Given the description of an element on the screen output the (x, y) to click on. 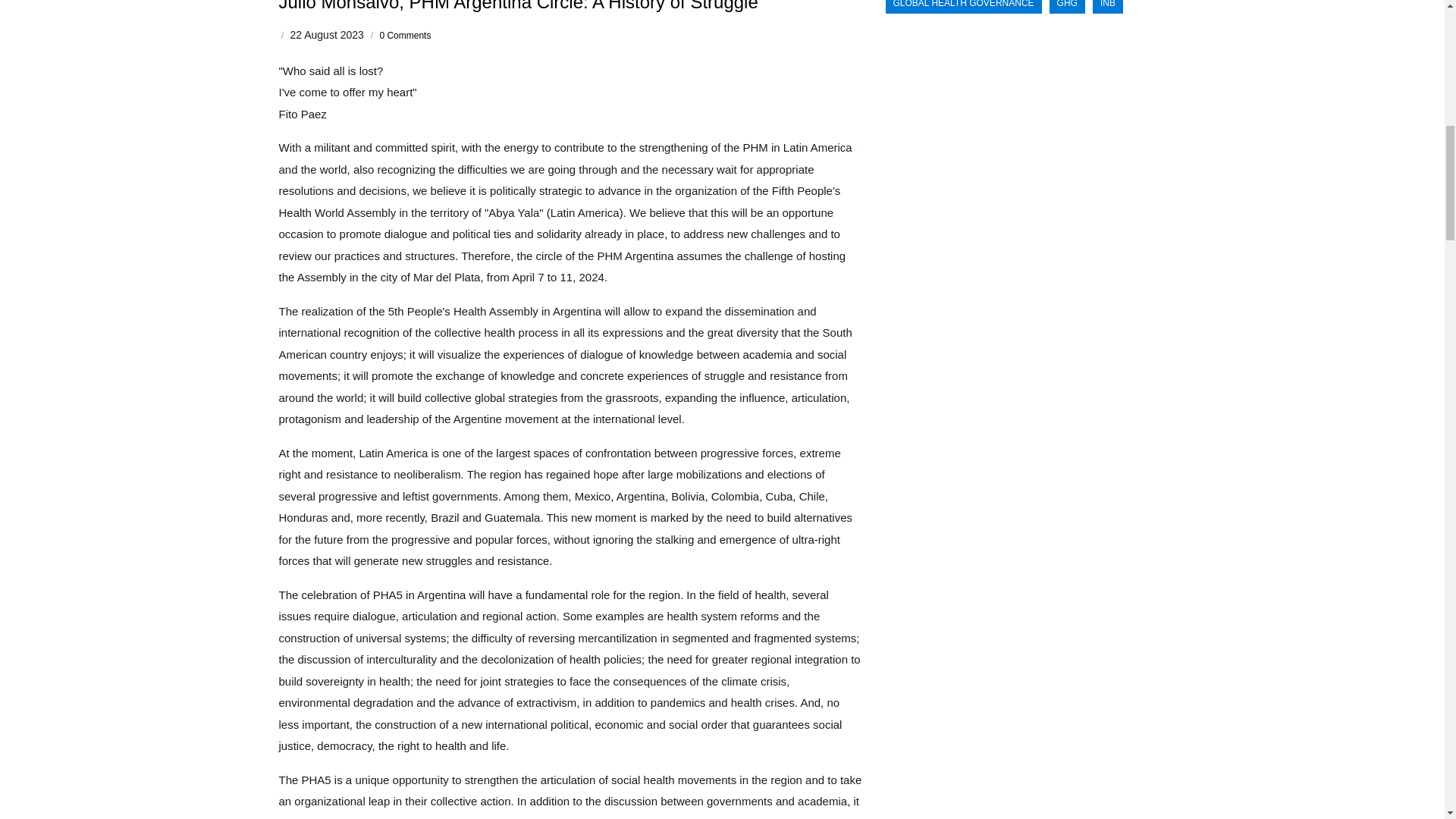
0 Comments (404, 35)
